Given the description of an element on the screen output the (x, y) to click on. 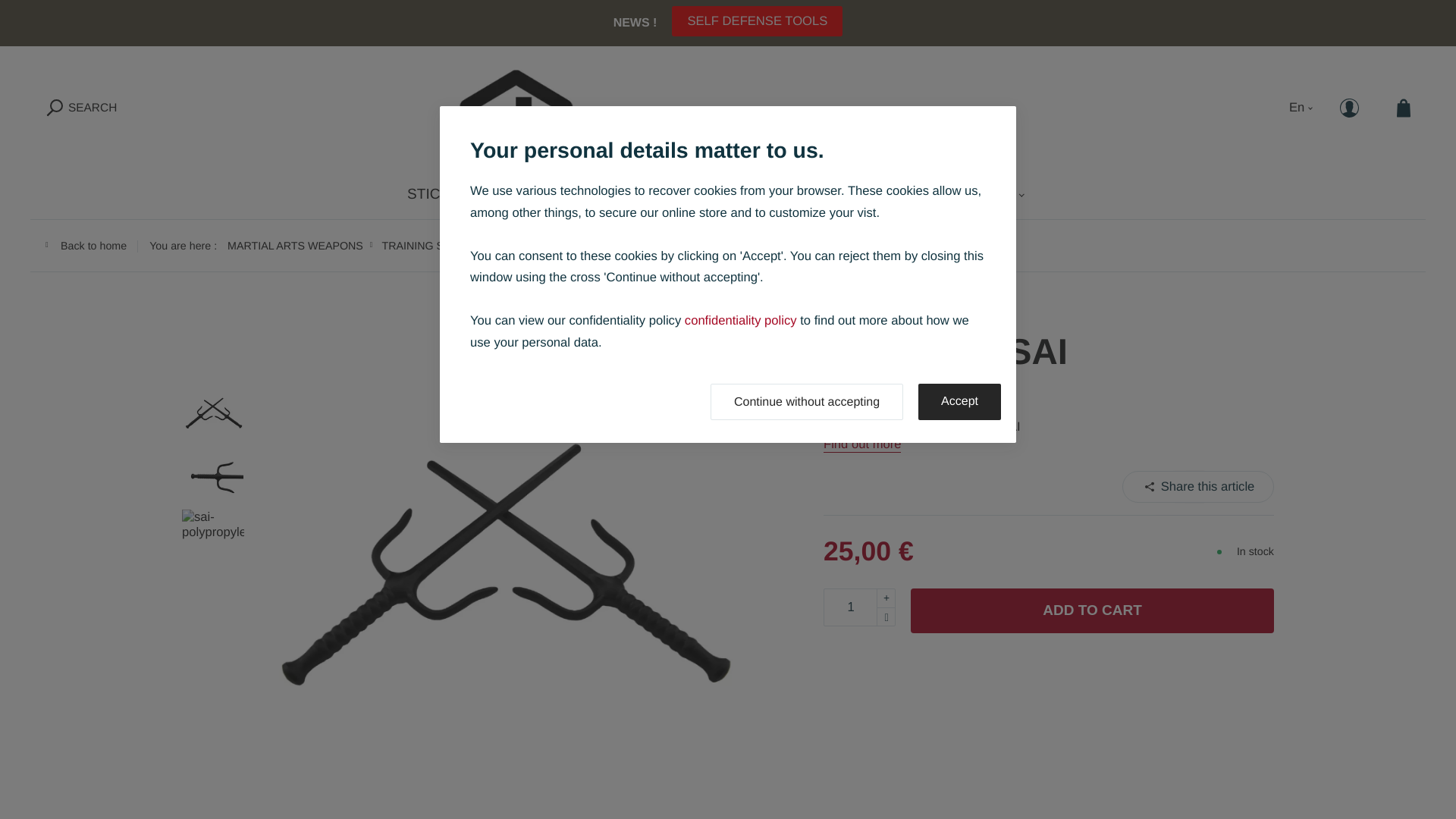
1 (859, 607)
SELF DEFENSE TOOLS (757, 20)
Blaklist (727, 107)
Find out more (862, 443)
